Given the description of an element on the screen output the (x, y) to click on. 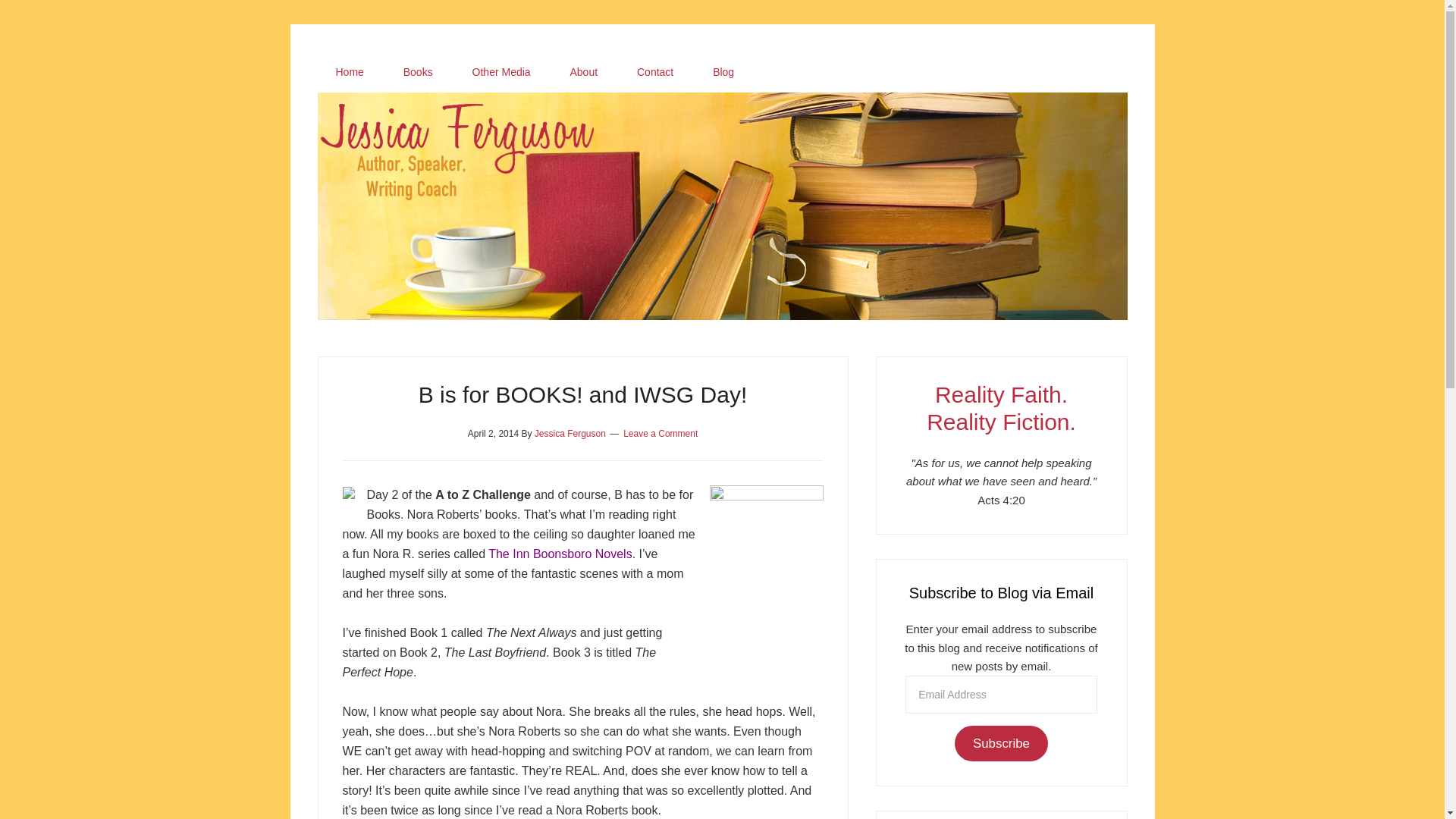
Other Media (501, 71)
Jessica Ferguson (569, 433)
Home (349, 71)
The Inn Boonsboro Novels (559, 553)
B is for BOOKS! and IWSG Day! (582, 394)
Blog (723, 71)
Contact (654, 71)
Jessica Ferguson (721, 111)
Subscribe (1001, 743)
Leave a Comment (660, 433)
Books (418, 71)
About (583, 71)
